Given the description of an element on the screen output the (x, y) to click on. 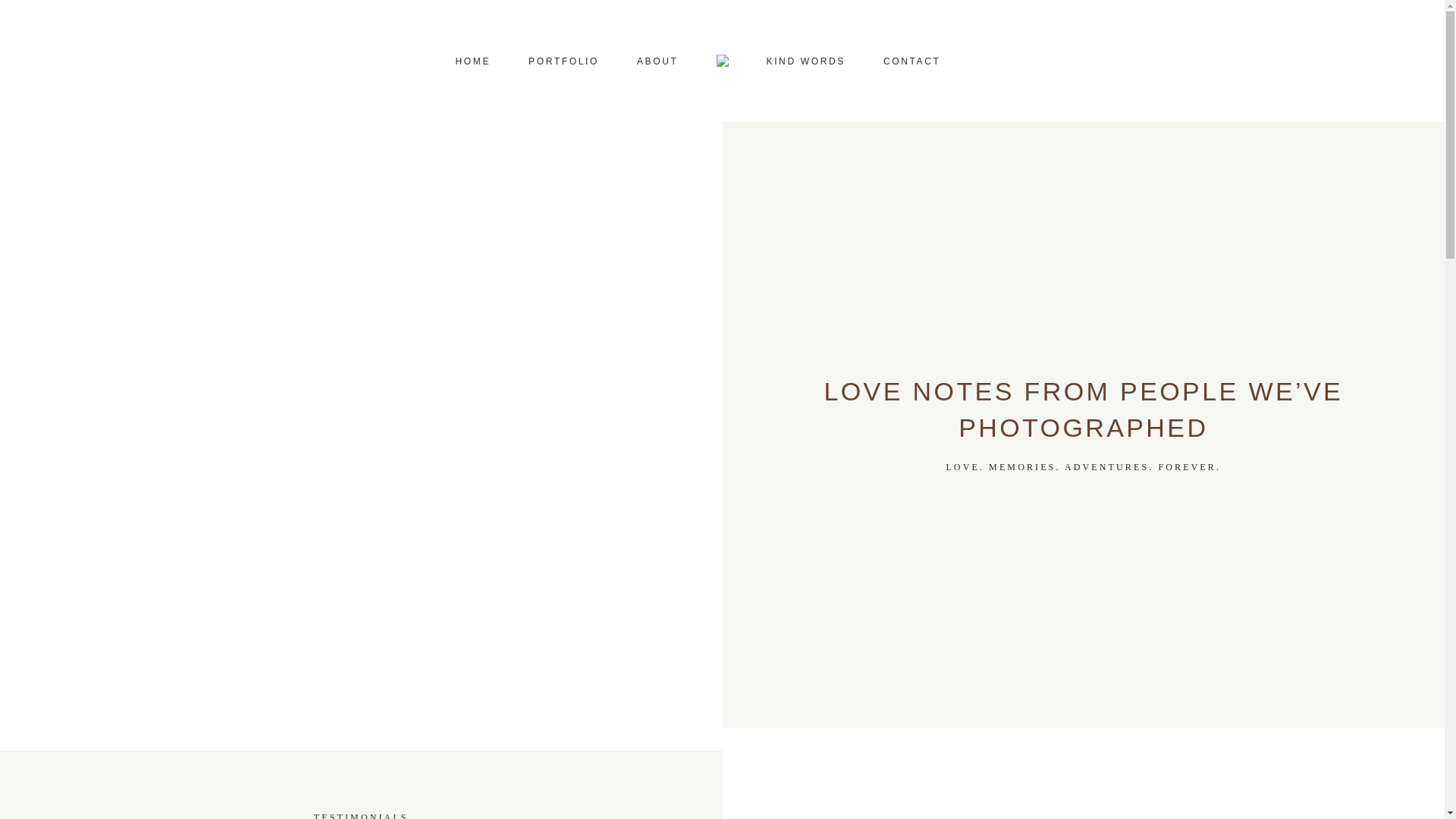
CONTACT (911, 61)
HOME (473, 61)
KIND WORDS (806, 61)
ABOUT (657, 61)
PORTFOLIO (563, 61)
